Given the description of an element on the screen output the (x, y) to click on. 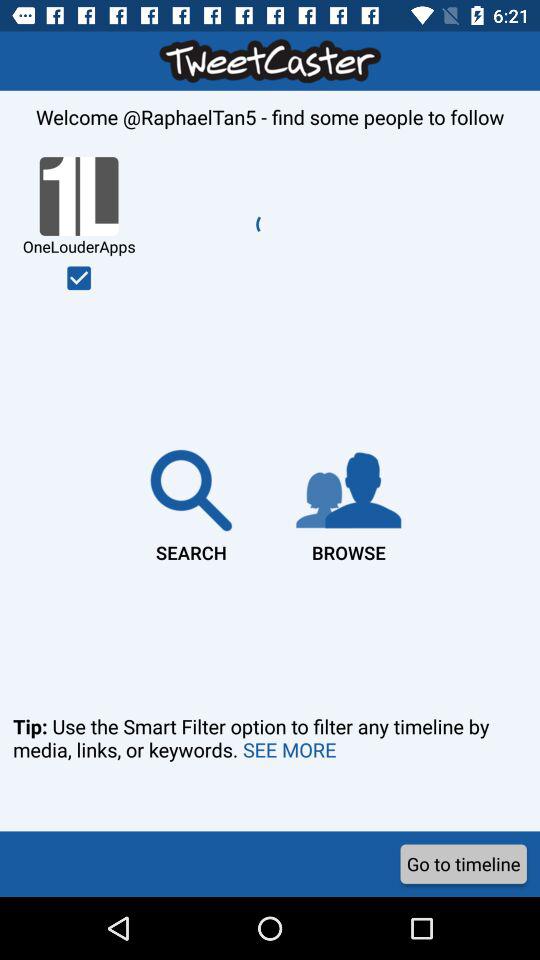
turn off the icon below the search item (269, 765)
